Given the description of an element on the screen output the (x, y) to click on. 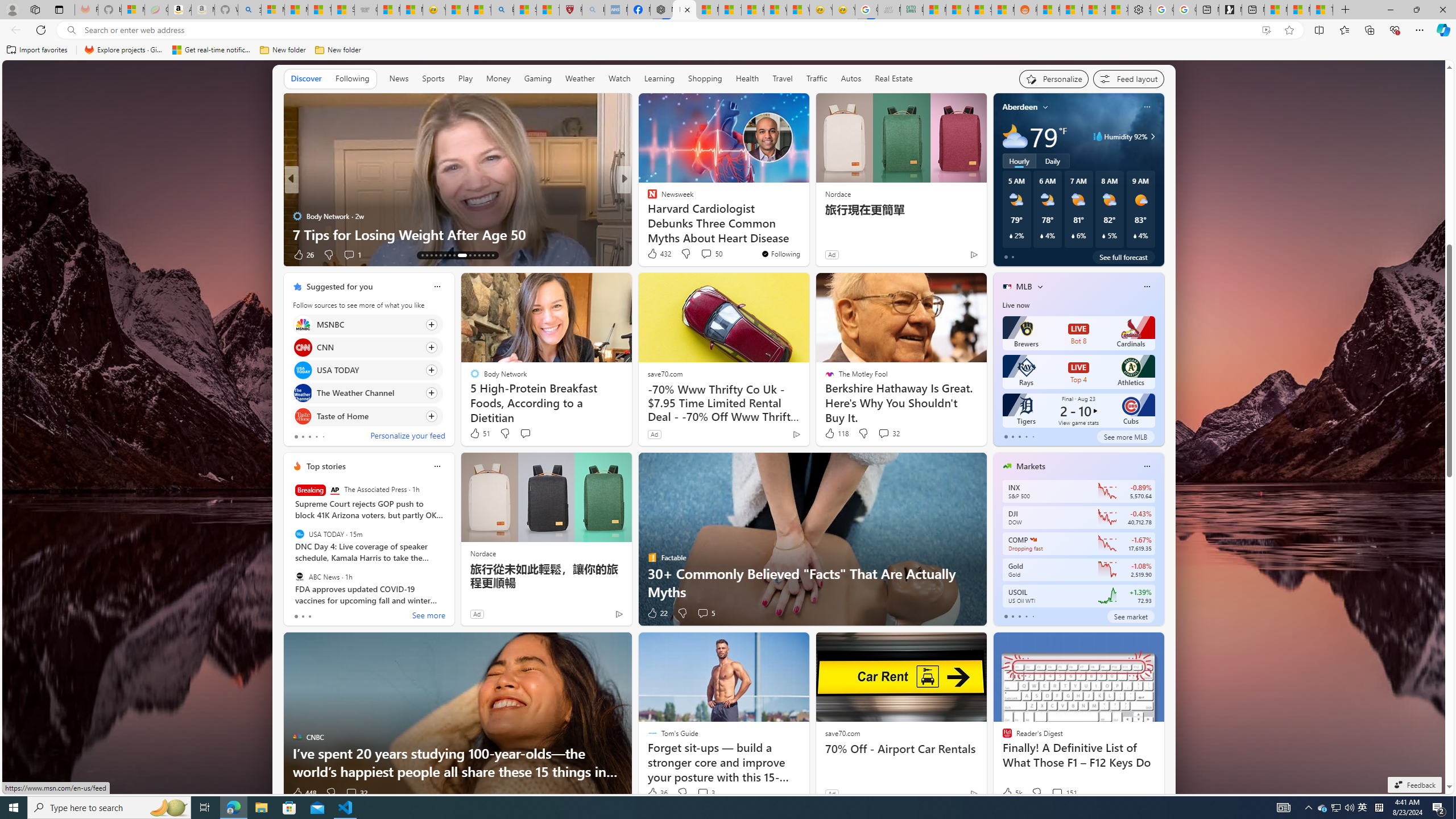
Learning (658, 78)
Travel (782, 78)
Gaming (537, 78)
News (398, 78)
These 3 Stocks Pay You More Than 5% to Own Them (1321, 9)
News (398, 79)
36 Like (657, 792)
Recipes - MSN (457, 9)
Brewers LIVE Bot 8 Cardinals (1077, 333)
Sports (432, 78)
View comments 30 Comment (6, 254)
